Given the description of an element on the screen output the (x, y) to click on. 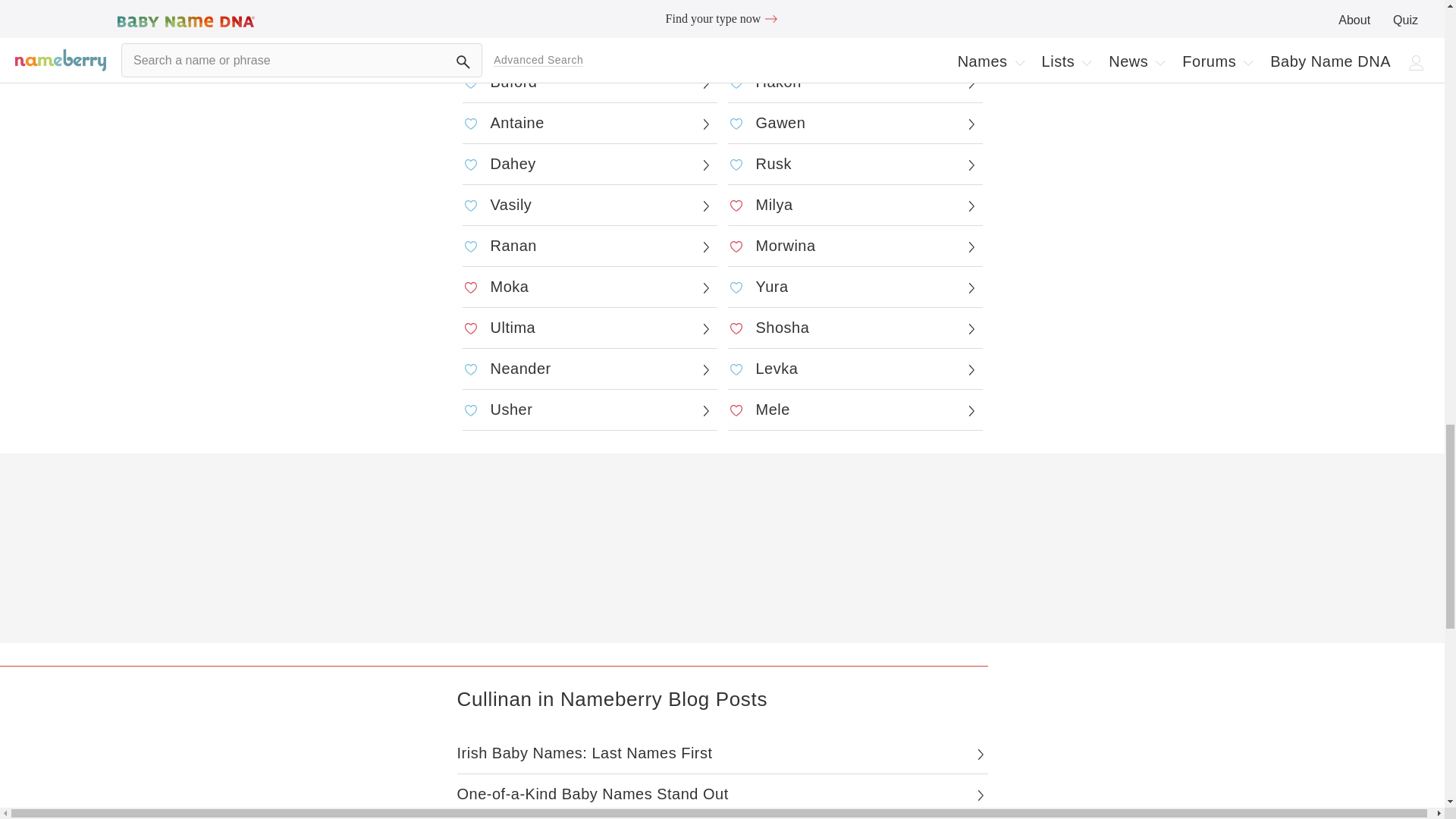
HEART (735, 41)
Chevron - Right (705, 42)
HEART (470, 82)
Chevron - Right (705, 83)
Chevron - Right (970, 42)
HEART (470, 41)
